Given the description of an element on the screen output the (x, y) to click on. 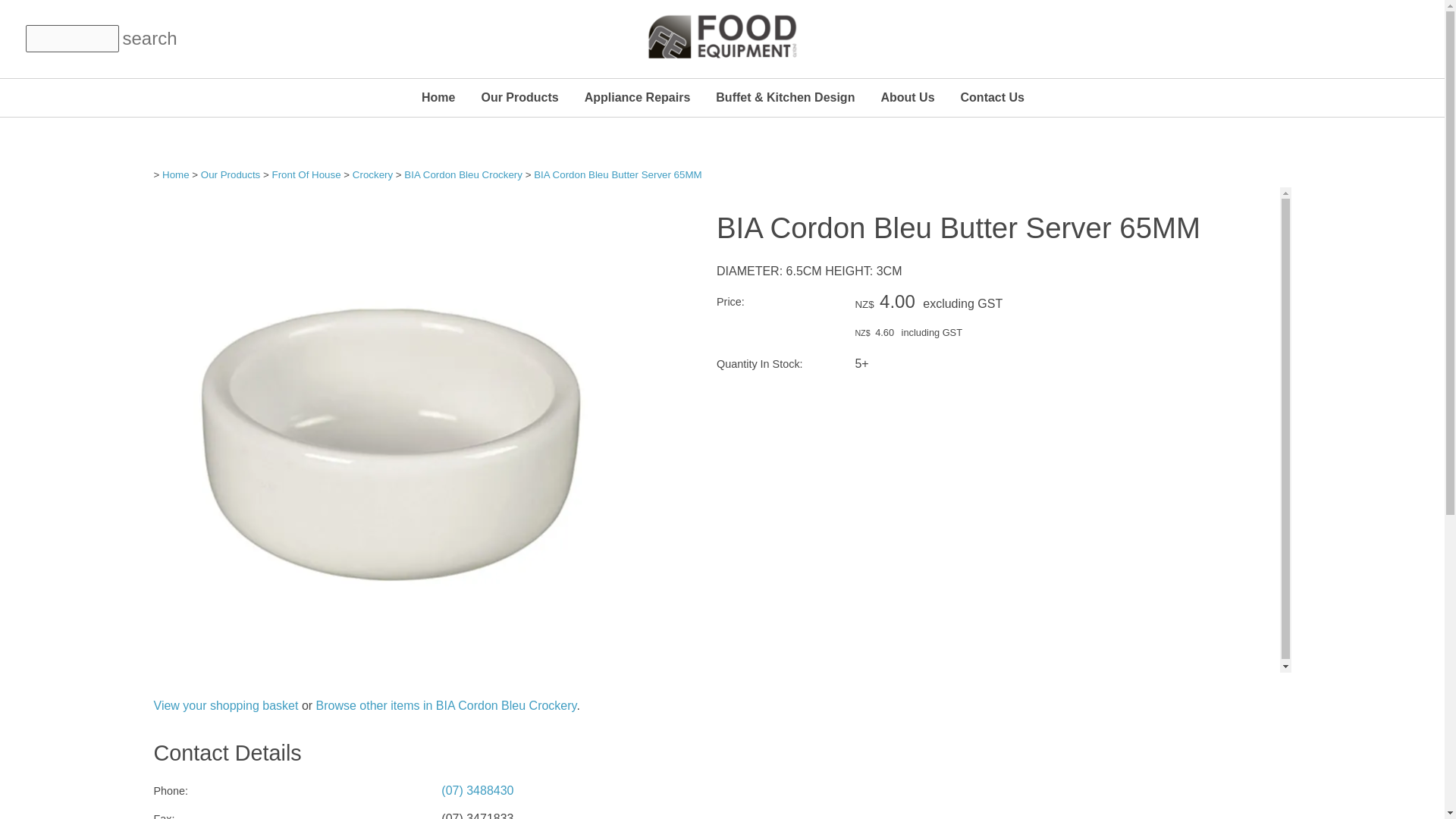
Home (438, 97)
My Account (1391, 38)
Our Products (518, 97)
search (135, 38)
BIA Cordon Bleu Butter Server 65MM (395, 667)
Shopping Cart (1401, 38)
Checkout (1410, 38)
My Account (1391, 38)
Checkout (1410, 38)
Shopping Cart (1401, 38)
